Given the description of an element on the screen output the (x, y) to click on. 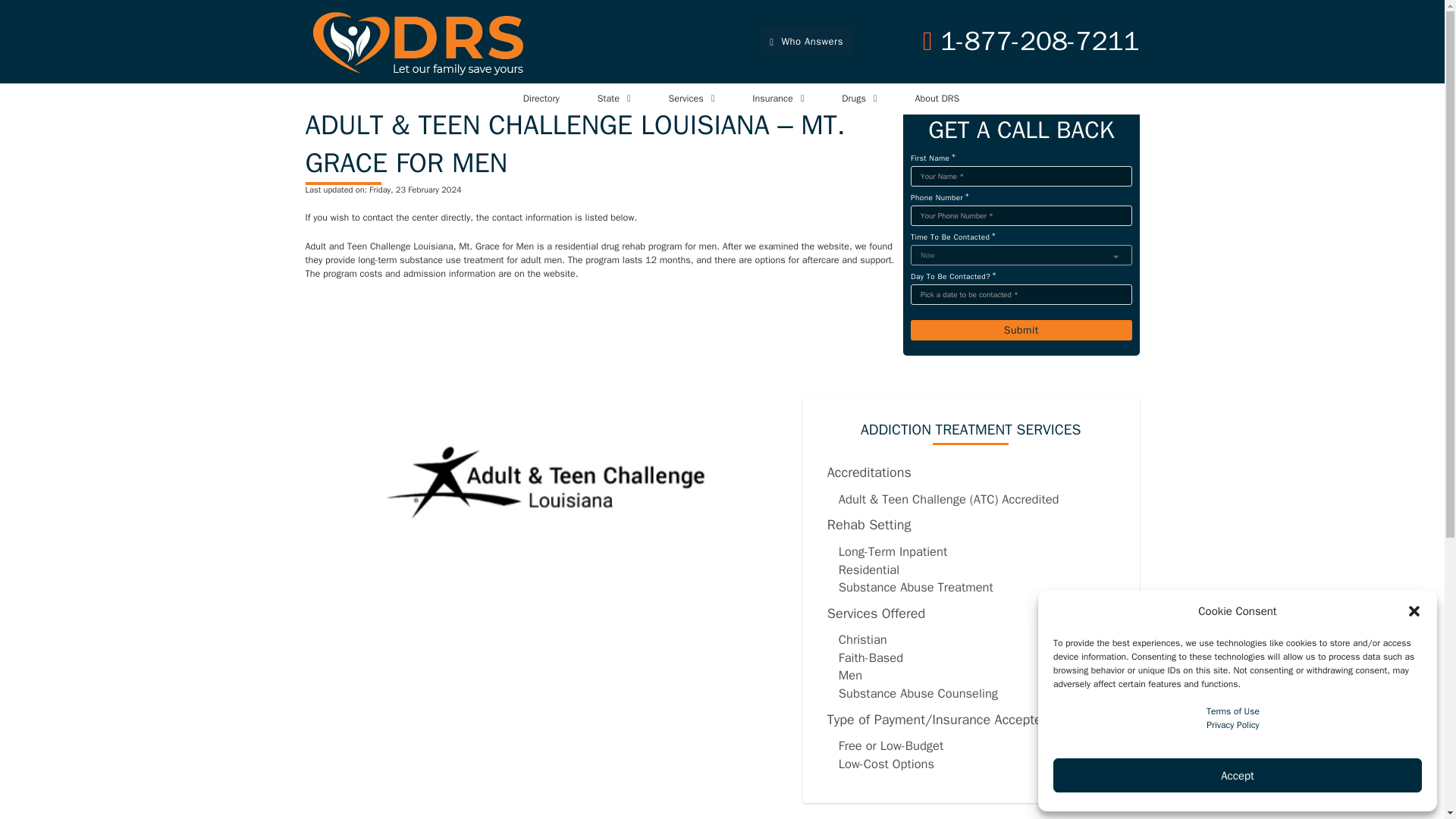
Accept (1237, 775)
1-877-208-7211 (1031, 40)
State (608, 98)
Addicted.org HomePage (420, 41)
Privacy Policy (1233, 725)
Terms of Use (1233, 711)
Directory (540, 98)
